Given the description of an element on the screen output the (x, y) to click on. 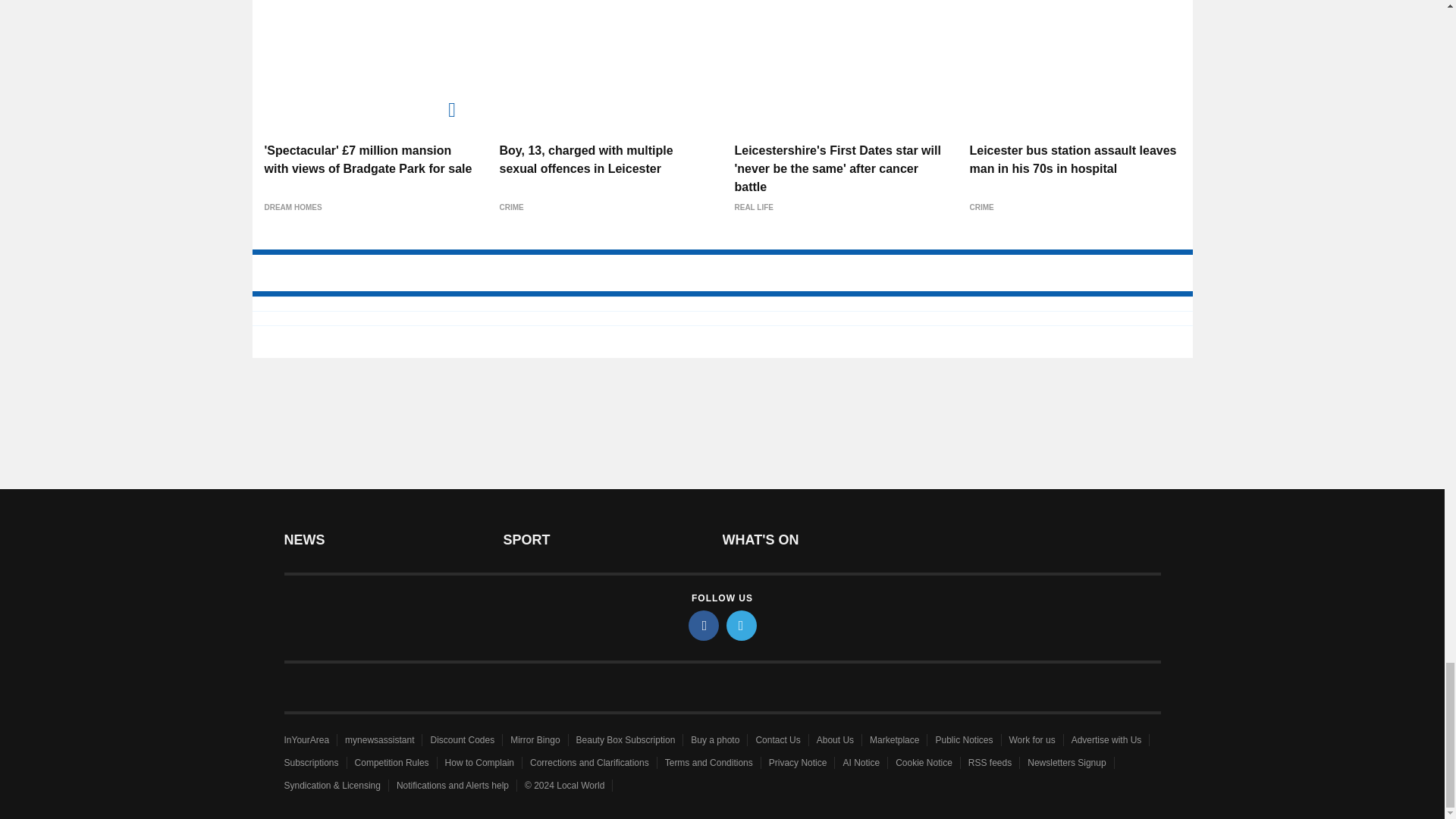
twitter (741, 625)
facebook (703, 625)
